Given the description of an element on the screen output the (x, y) to click on. 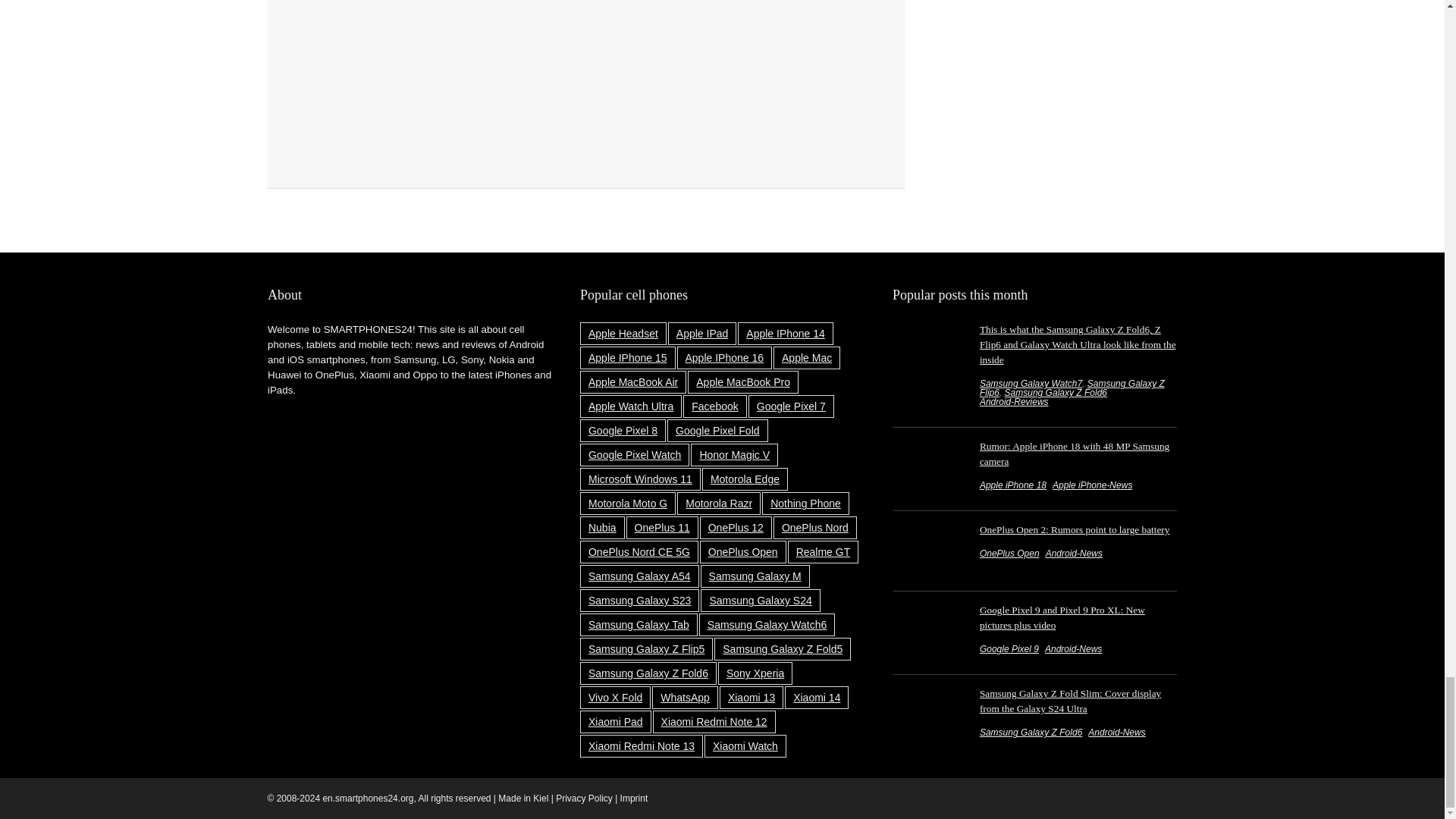
Comment Form (585, 81)
